Given the description of an element on the screen output the (x, y) to click on. 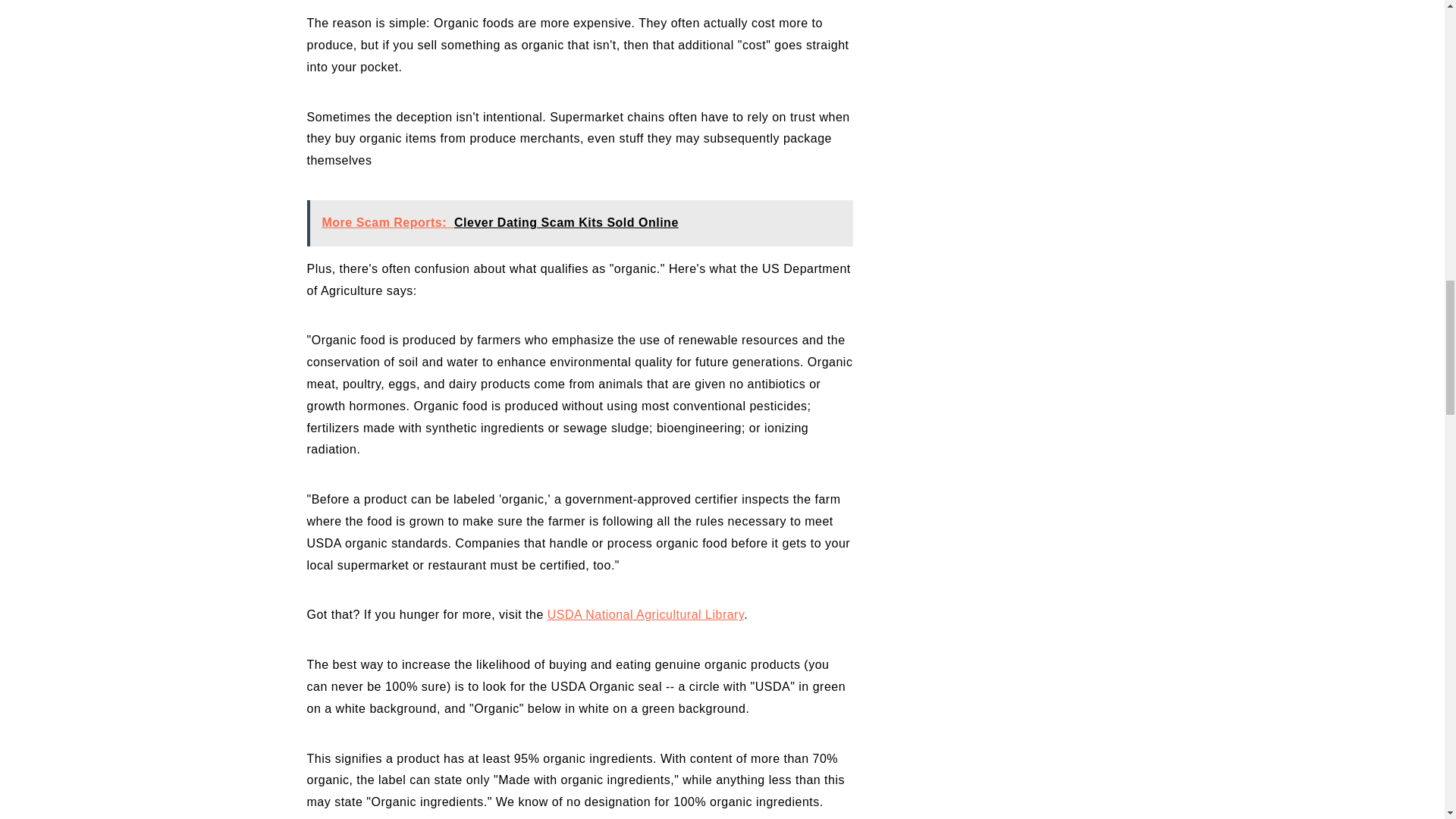
USDA National Agricultural Library (645, 614)
More Scam Reports:  Clever Dating Scam Kits Sold Online (578, 222)
